Given the description of an element on the screen output the (x, y) to click on. 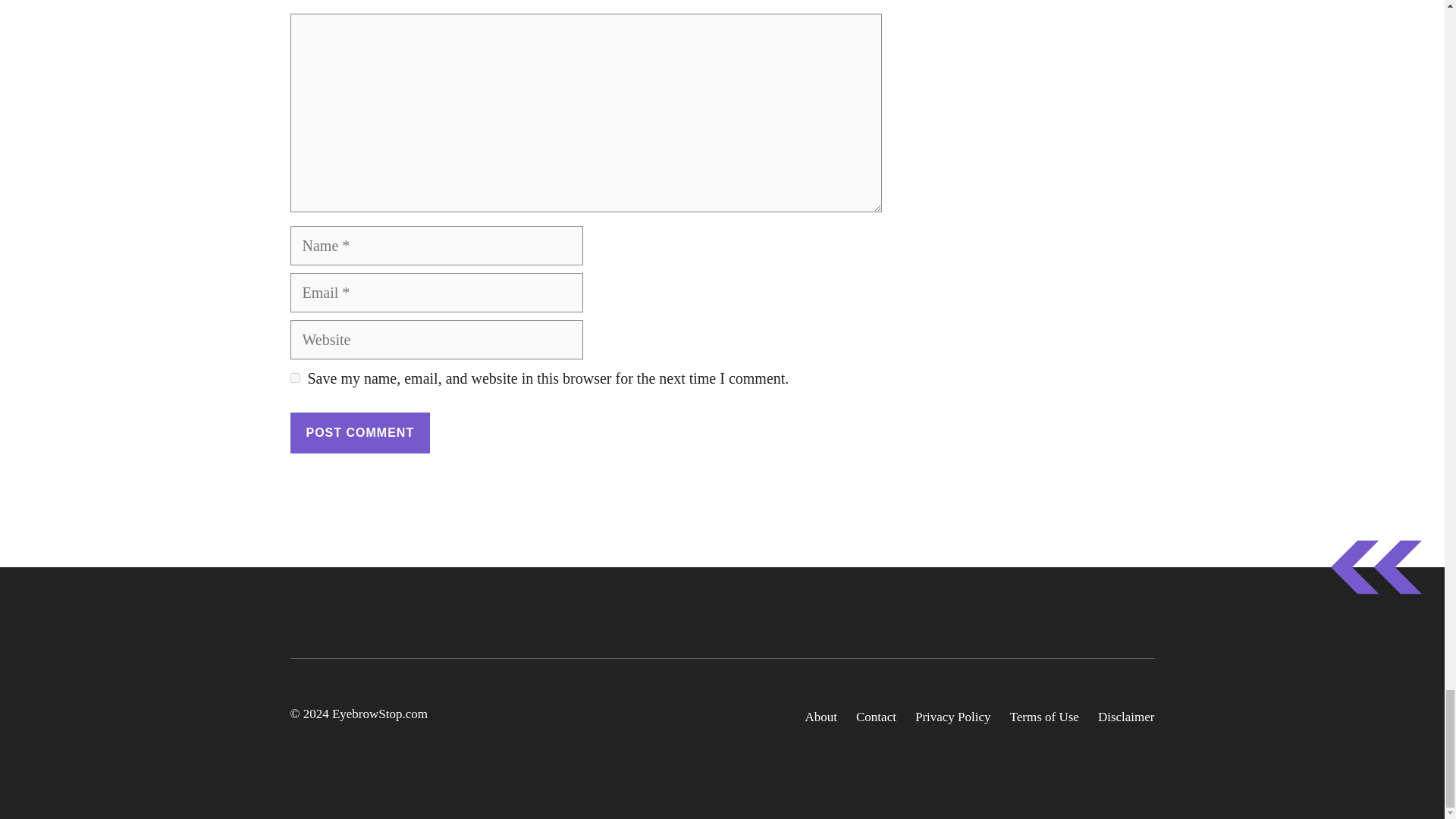
Privacy Policy (953, 717)
Post Comment (359, 432)
Contact (876, 717)
Post Comment (359, 432)
About (821, 717)
yes (294, 378)
